Given the description of an element on the screen output the (x, y) to click on. 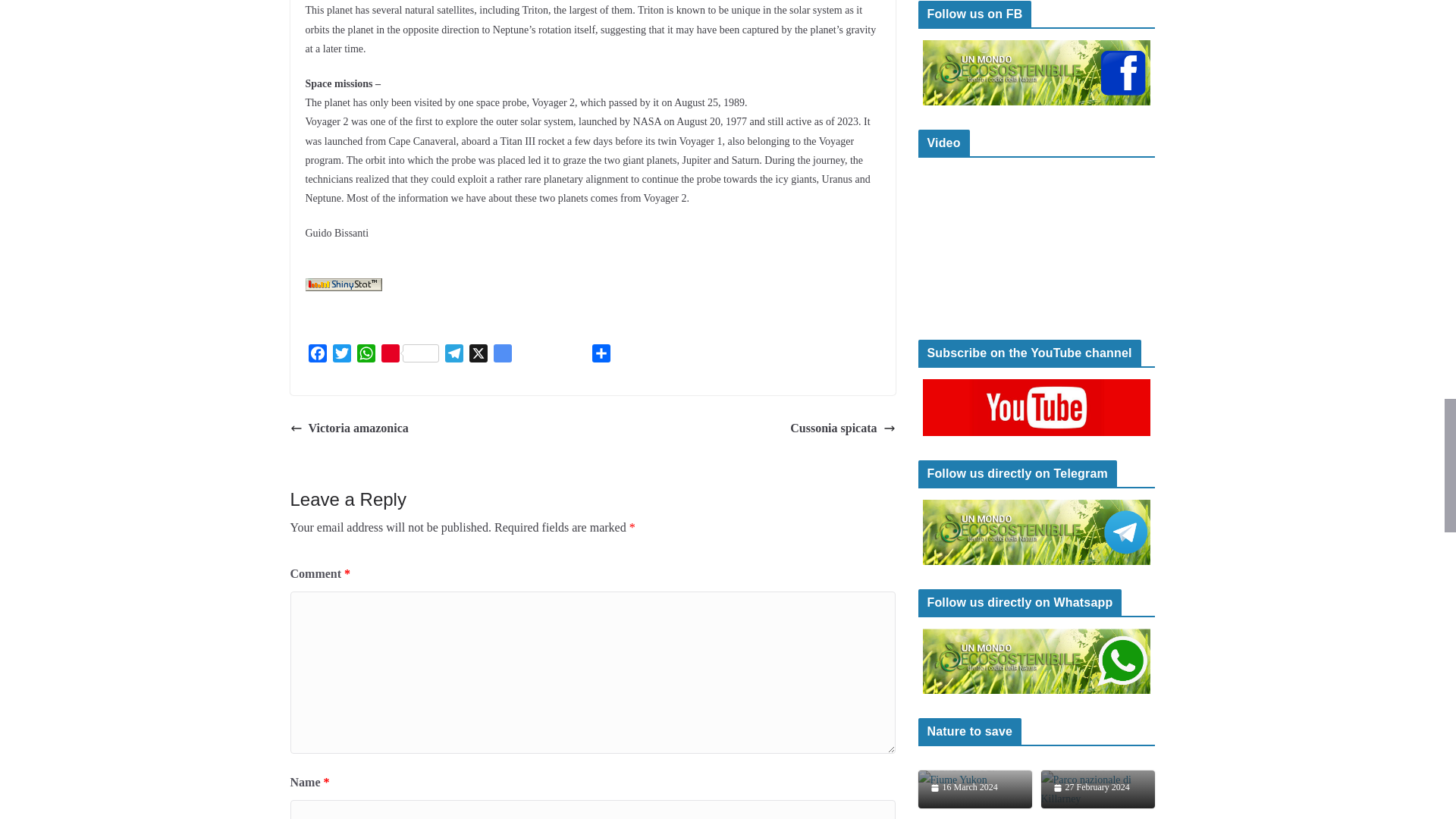
Twitter (341, 355)
WhatsApp (365, 355)
Facebook (316, 355)
